Given the description of an element on the screen output the (x, y) to click on. 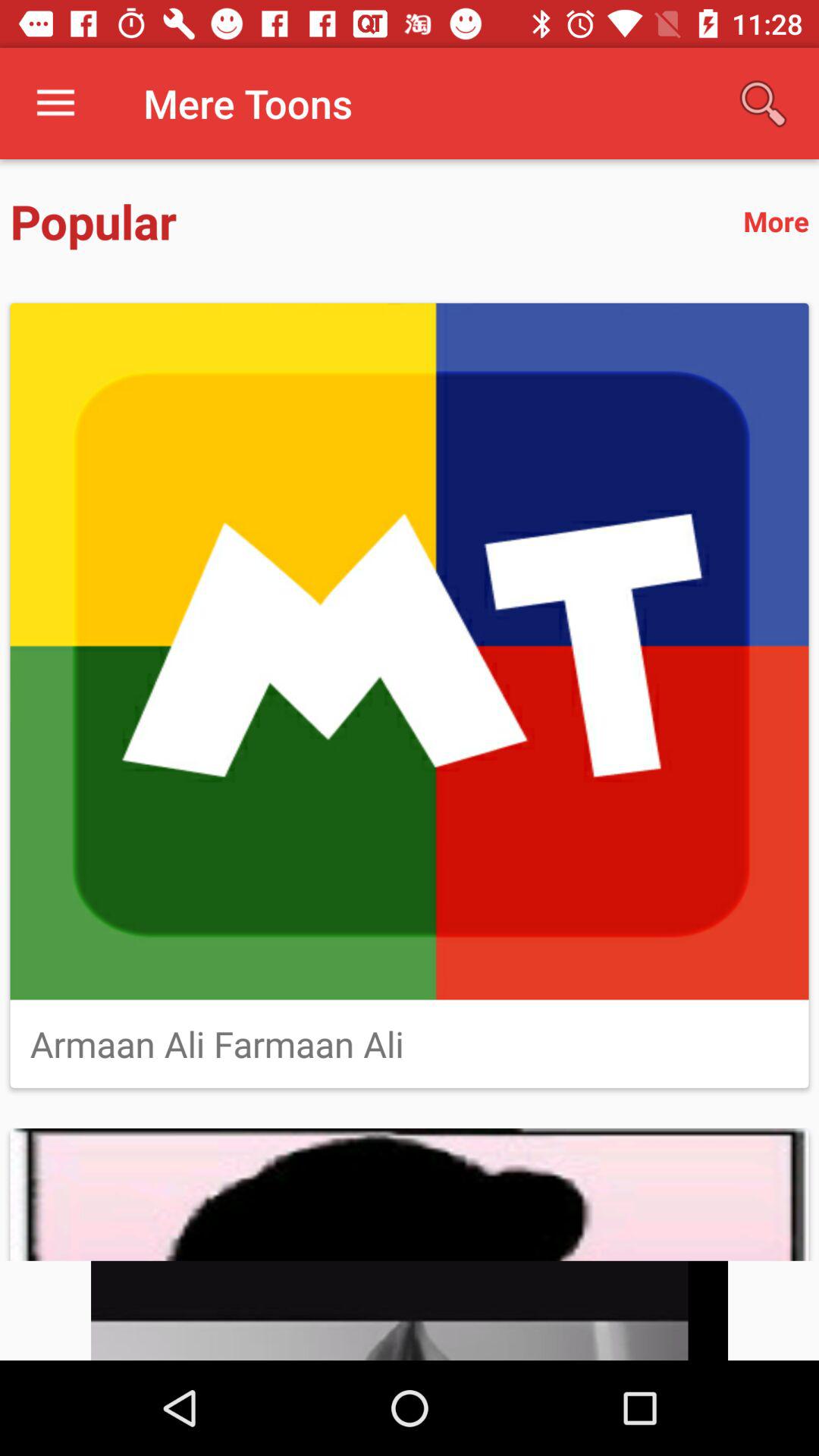
turn off the item to the right of popular (775, 221)
